Given the description of an element on the screen output the (x, y) to click on. 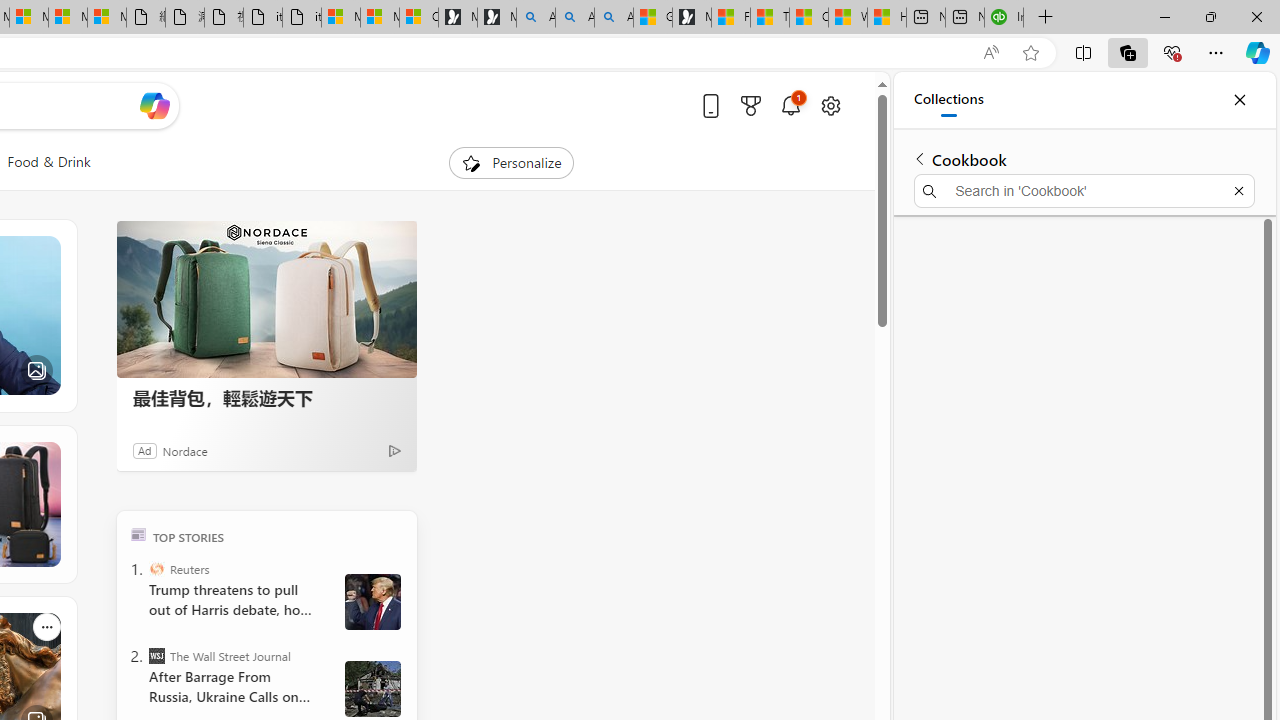
New tab (964, 17)
Ad (145, 450)
Read aloud this page (Ctrl+Shift+U) (991, 53)
Microsoft rewards (749, 105)
Intuit QuickBooks Online - Quickbooks (1003, 17)
Restore (1210, 16)
Nordace (184, 450)
Alabama high school quarterback dies - Search Videos (614, 17)
